Given the description of an element on the screen output the (x, y) to click on. 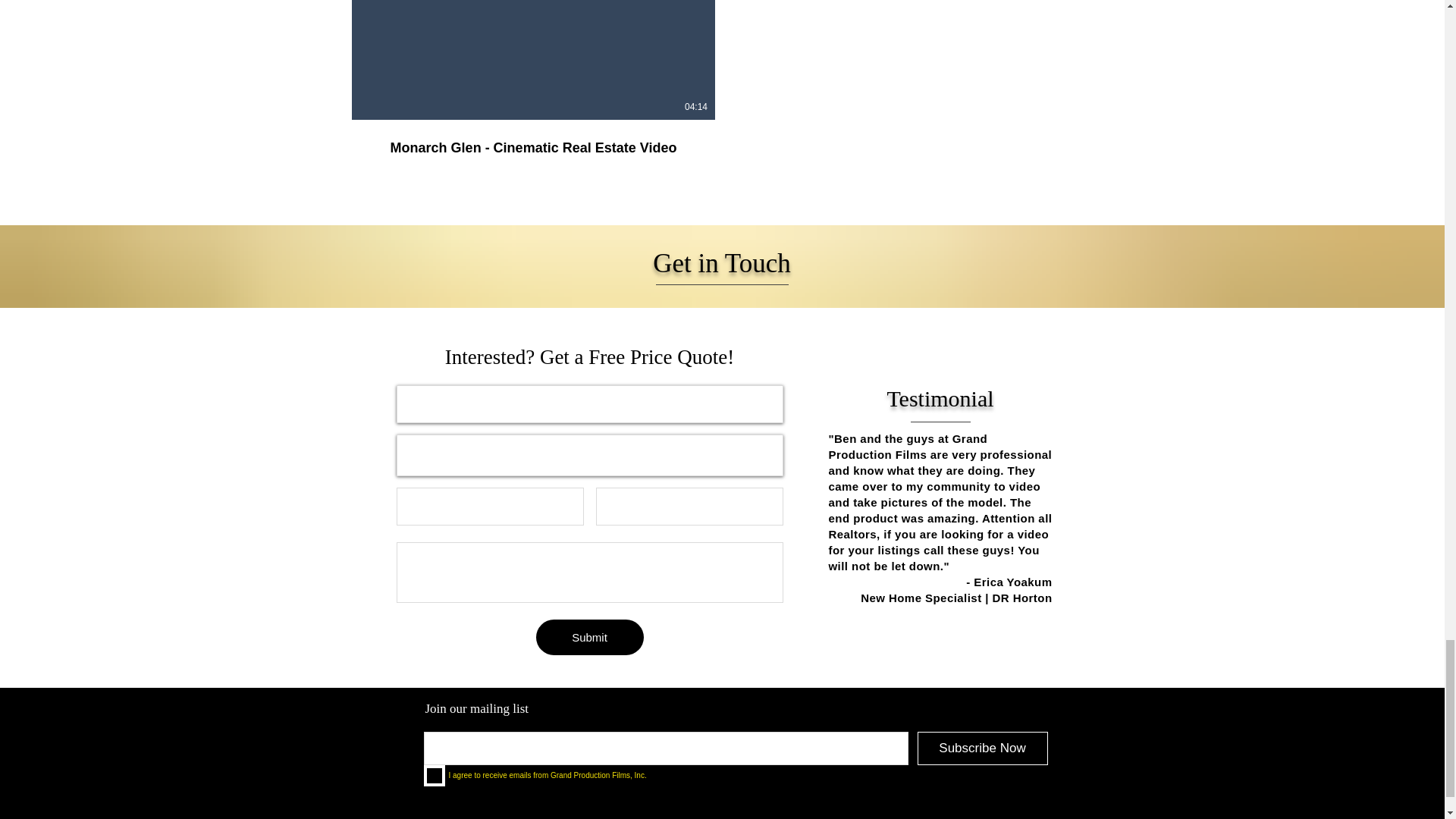
Monarch Glen - Cinematic Real Estate Video (533, 148)
Submit (589, 637)
Monarch Glen - Cinematic Real Estate Video (533, 138)
Subscribe Now (982, 748)
